Given the description of an element on the screen output the (x, y) to click on. 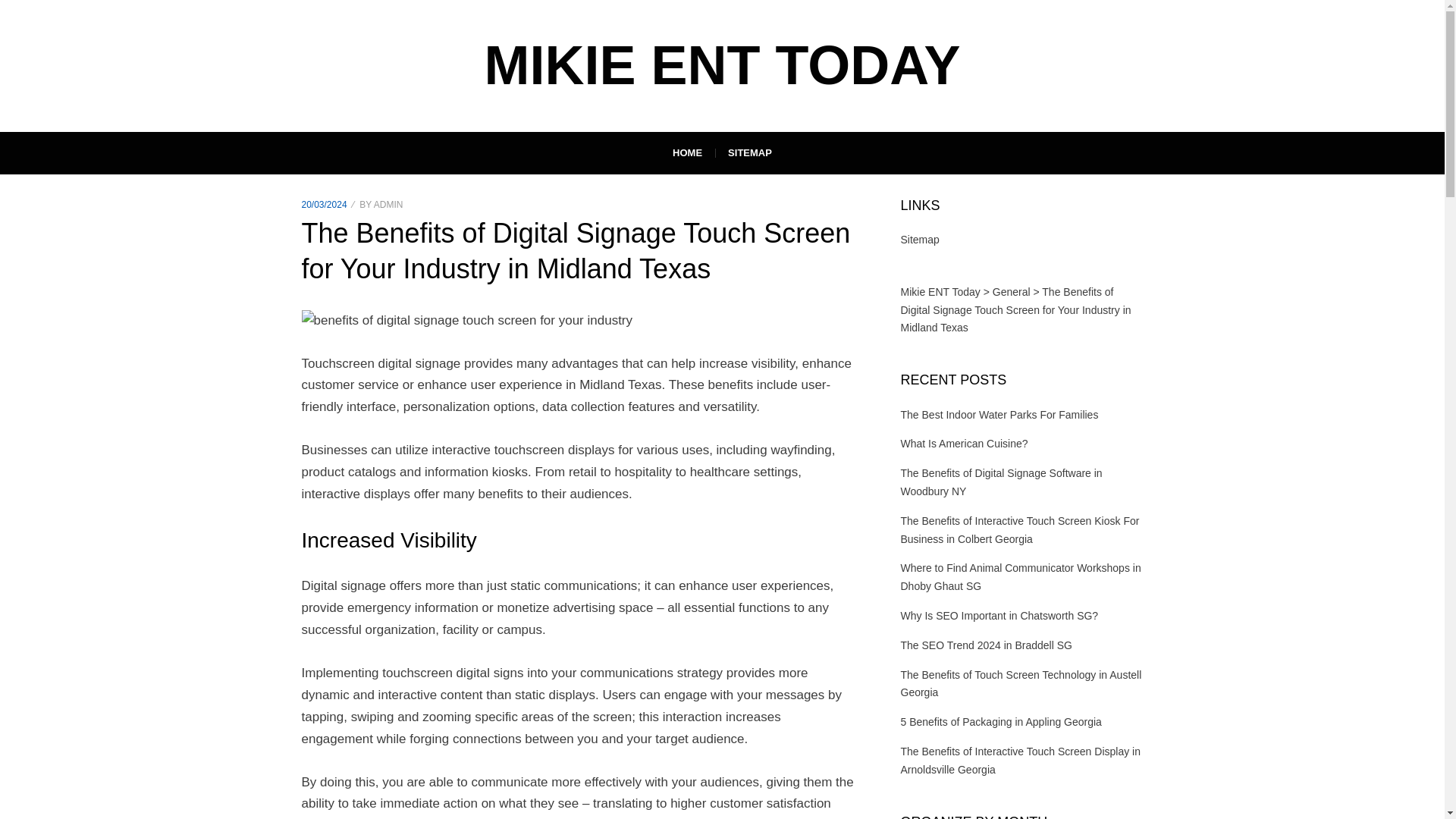
Sitemap (920, 239)
Go to the General Category archives. (1011, 291)
SITEMAP (749, 152)
What Is American Cuisine? (964, 443)
General (1011, 291)
Mikie ENT Today (721, 65)
The Benefits of Touch Screen Technology in Austell Georgia (1021, 684)
Go to Mikie ENT Today. (940, 291)
The Best Indoor Water Parks For Families (1000, 414)
The Benefits of Digital Signage Software in Woodbury NY (1001, 481)
The SEO Trend 2024 in Braddell SG (986, 645)
Mikie ENT Today (940, 291)
MIKIE ENT TODAY (721, 65)
